Given the description of an element on the screen output the (x, y) to click on. 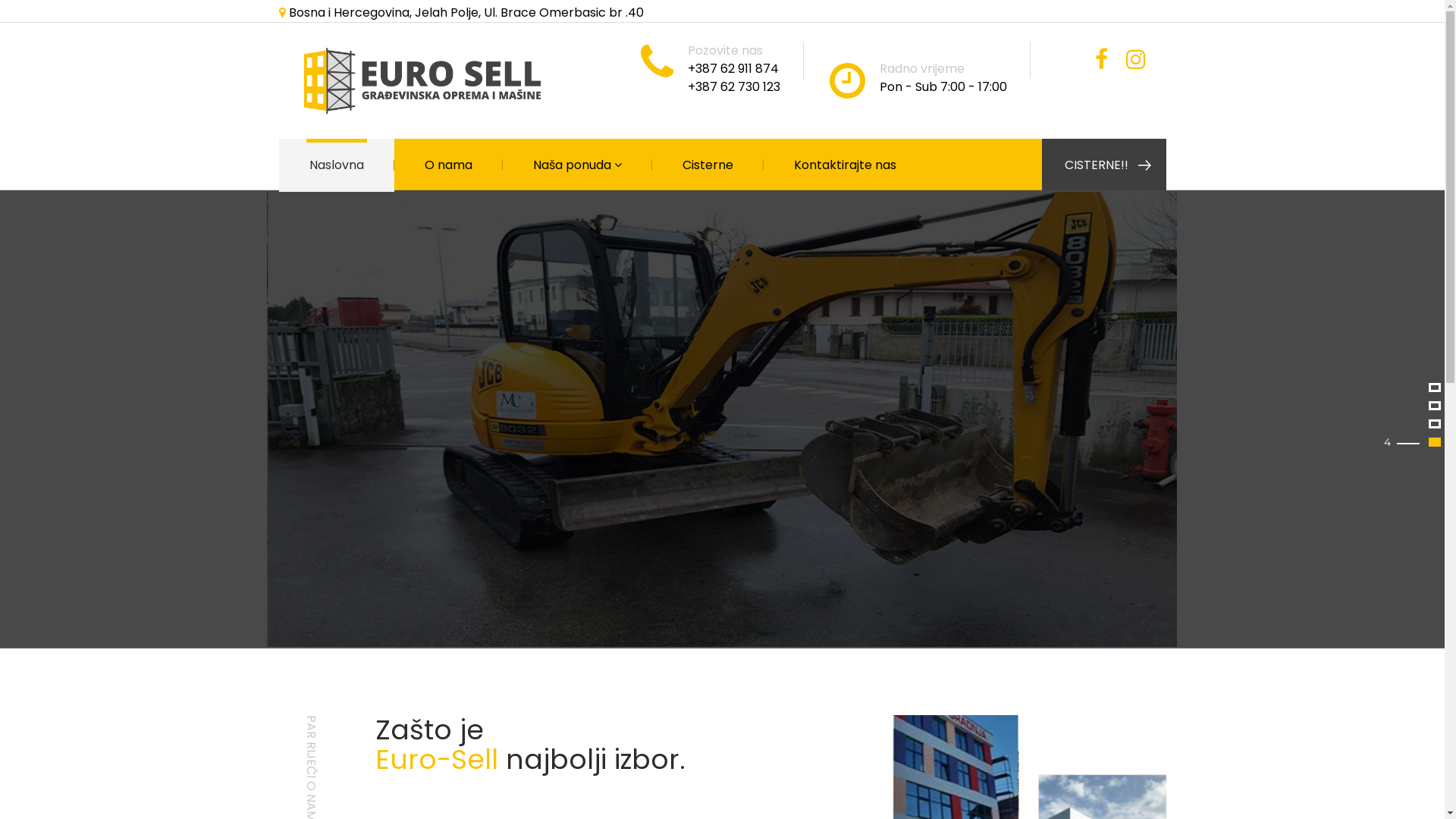
Cisterne Element type: text (707, 164)
Naslovna Element type: text (336, 164)
O nama Element type: text (448, 164)
Kontaktirajte nas Element type: text (843, 164)
CISTERNE!! Element type: text (1103, 164)
